Given the description of an element on the screen output the (x, y) to click on. 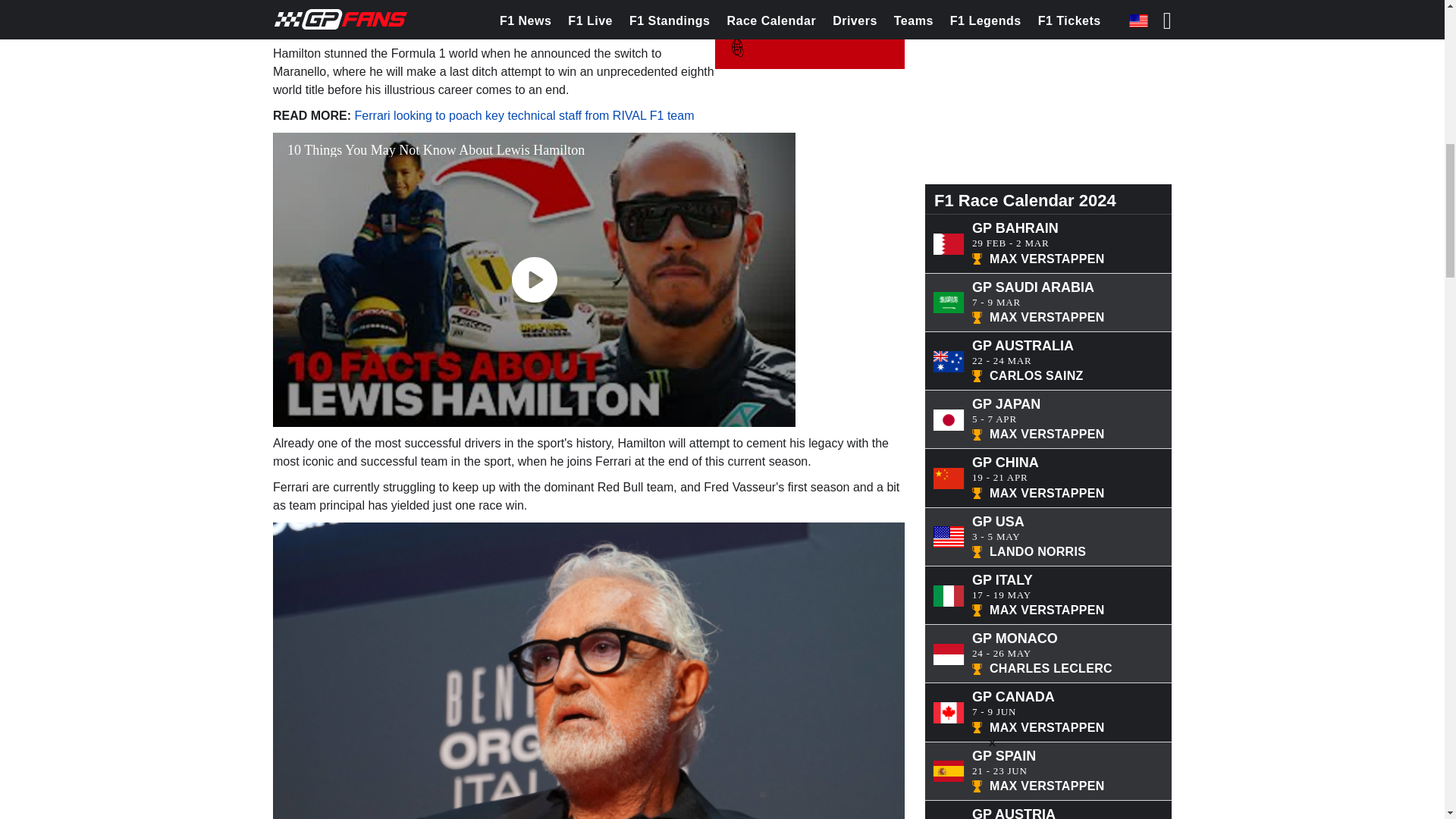
Lewis Hamilton (550, 27)
Ferrari (536, 8)
